Given the description of an element on the screen output the (x, y) to click on. 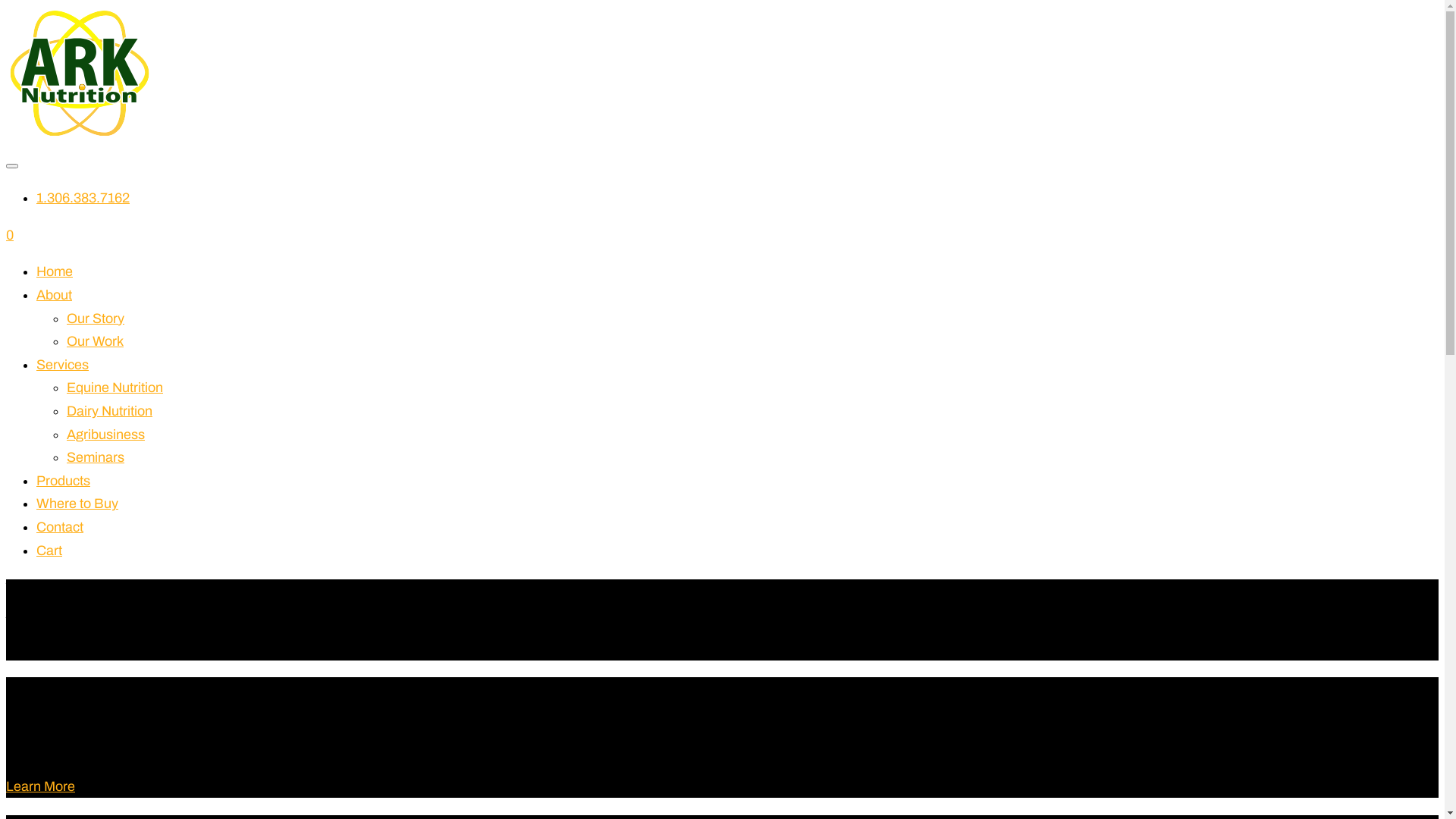
Cart Element type: text (49, 550)
Services Element type: text (62, 364)
Home Element type: text (54, 271)
About Element type: text (54, 294)
Learn More Element type: text (40, 785)
1.306.383.7162 Element type: text (82, 197)
Seminars Element type: text (95, 456)
Agribusiness Element type: text (105, 434)
Dairy Nutrition Element type: text (109, 410)
Products Element type: text (63, 480)
0 Element type: text (9, 234)
Our Story Element type: text (95, 318)
Contact Element type: text (59, 526)
Our Work Element type: text (94, 340)
Where to Buy Element type: text (77, 503)
Equine Nutrition Element type: text (114, 387)
